Given the description of an element on the screen output the (x, y) to click on. 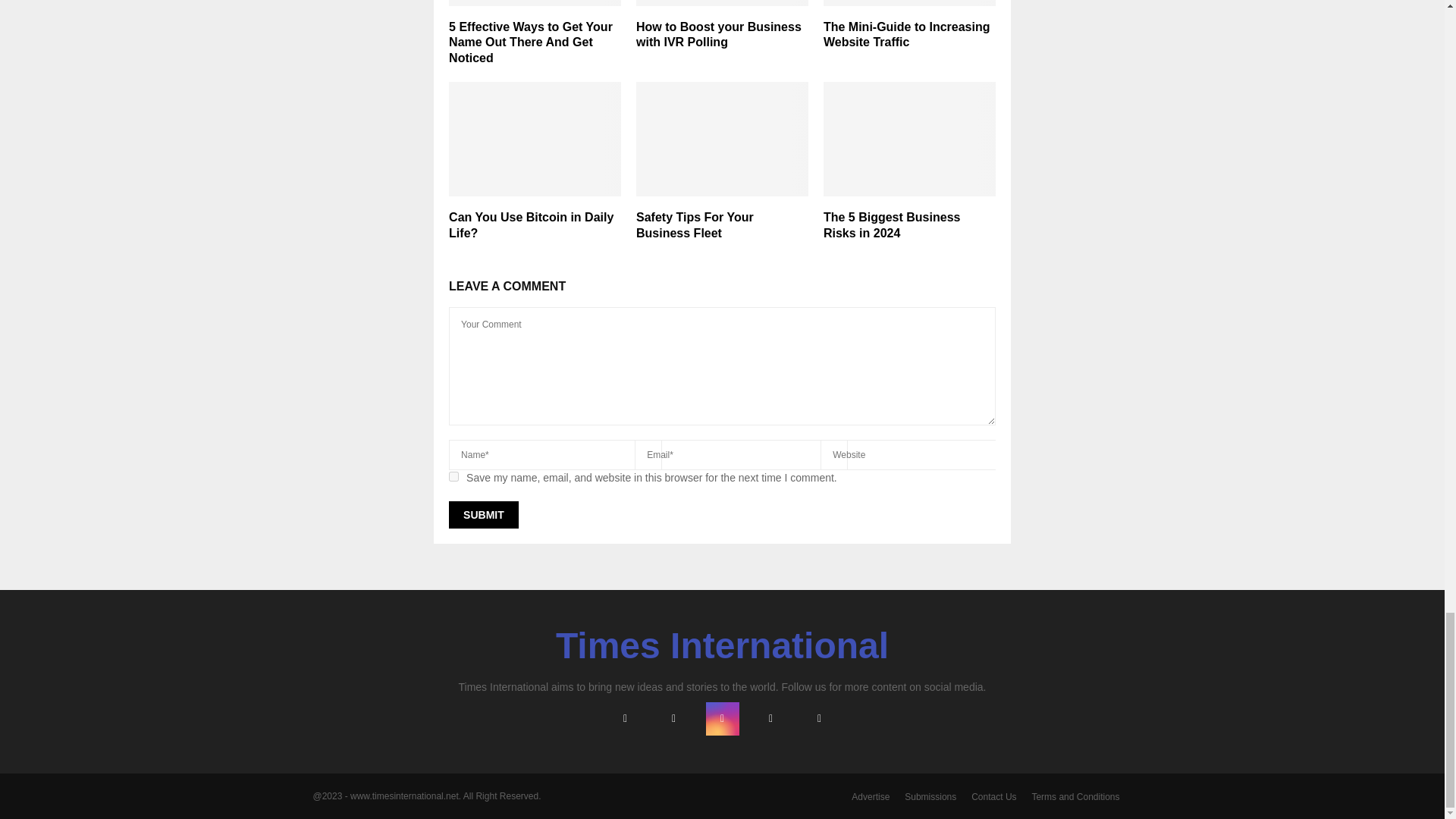
Submit (483, 514)
yes (453, 476)
